Given the description of an element on the screen output the (x, y) to click on. 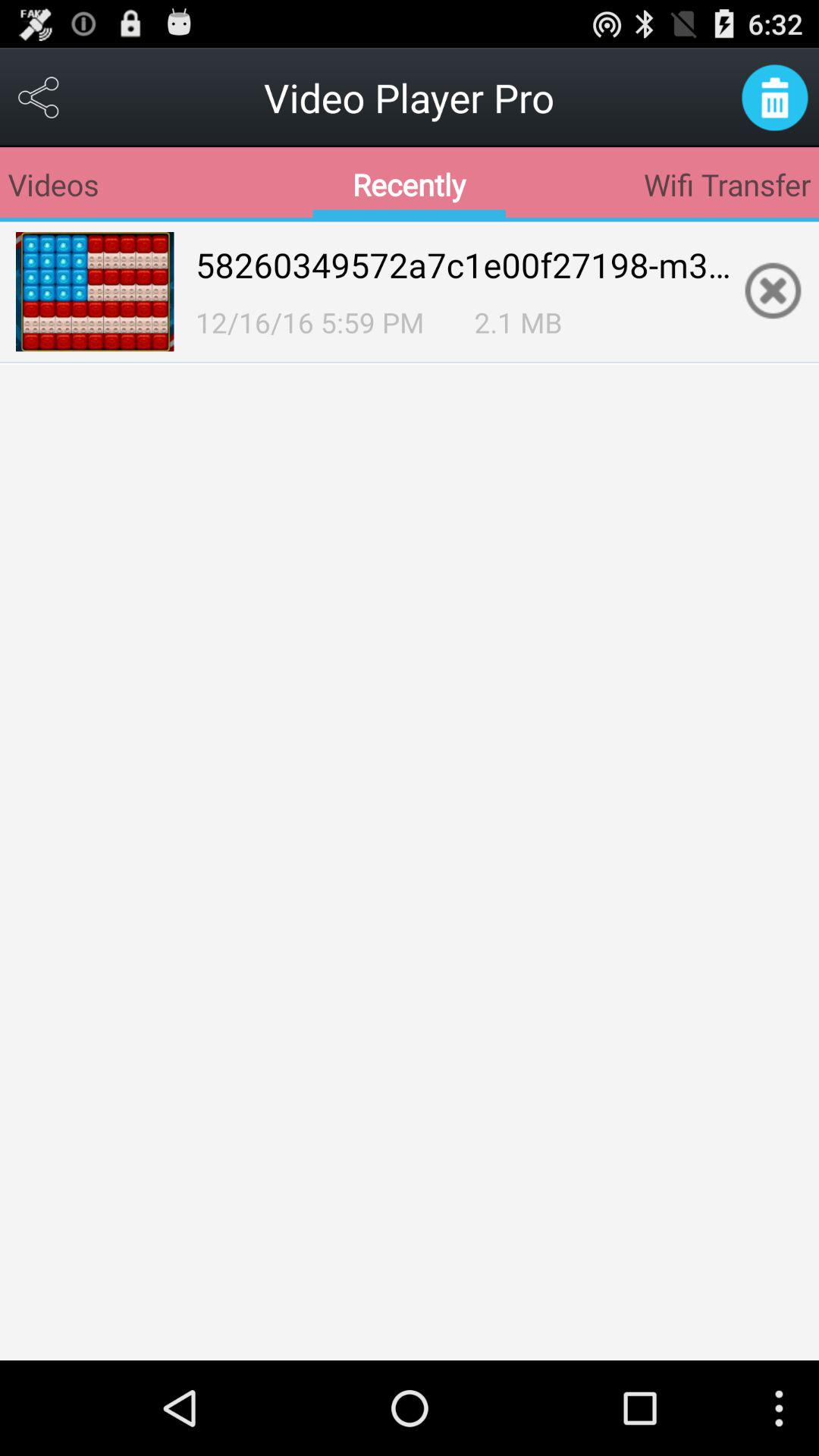
delete (774, 97)
